Given the description of an element on the screen output the (x, y) to click on. 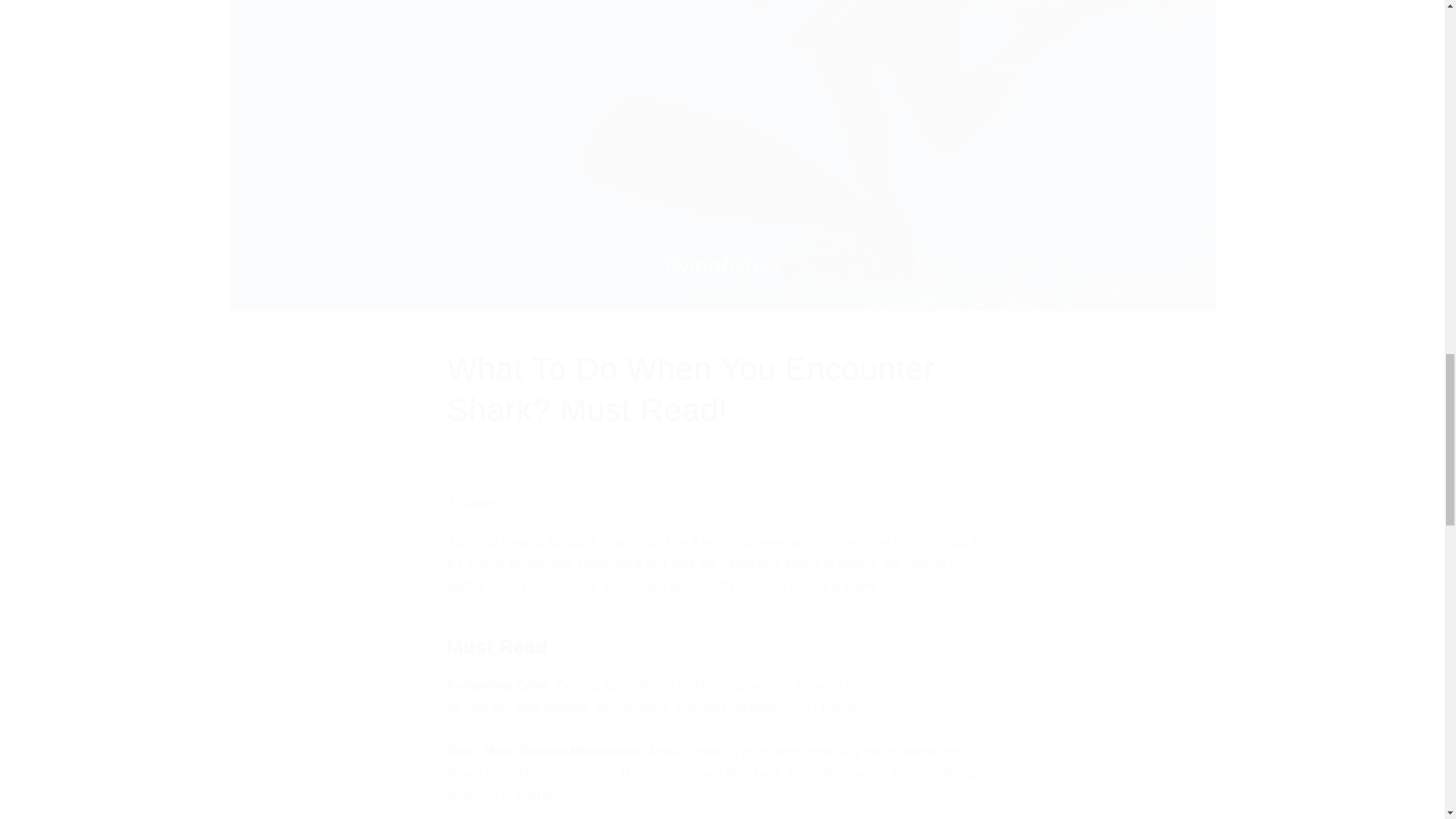
Share (721, 503)
